Given the description of an element on the screen output the (x, y) to click on. 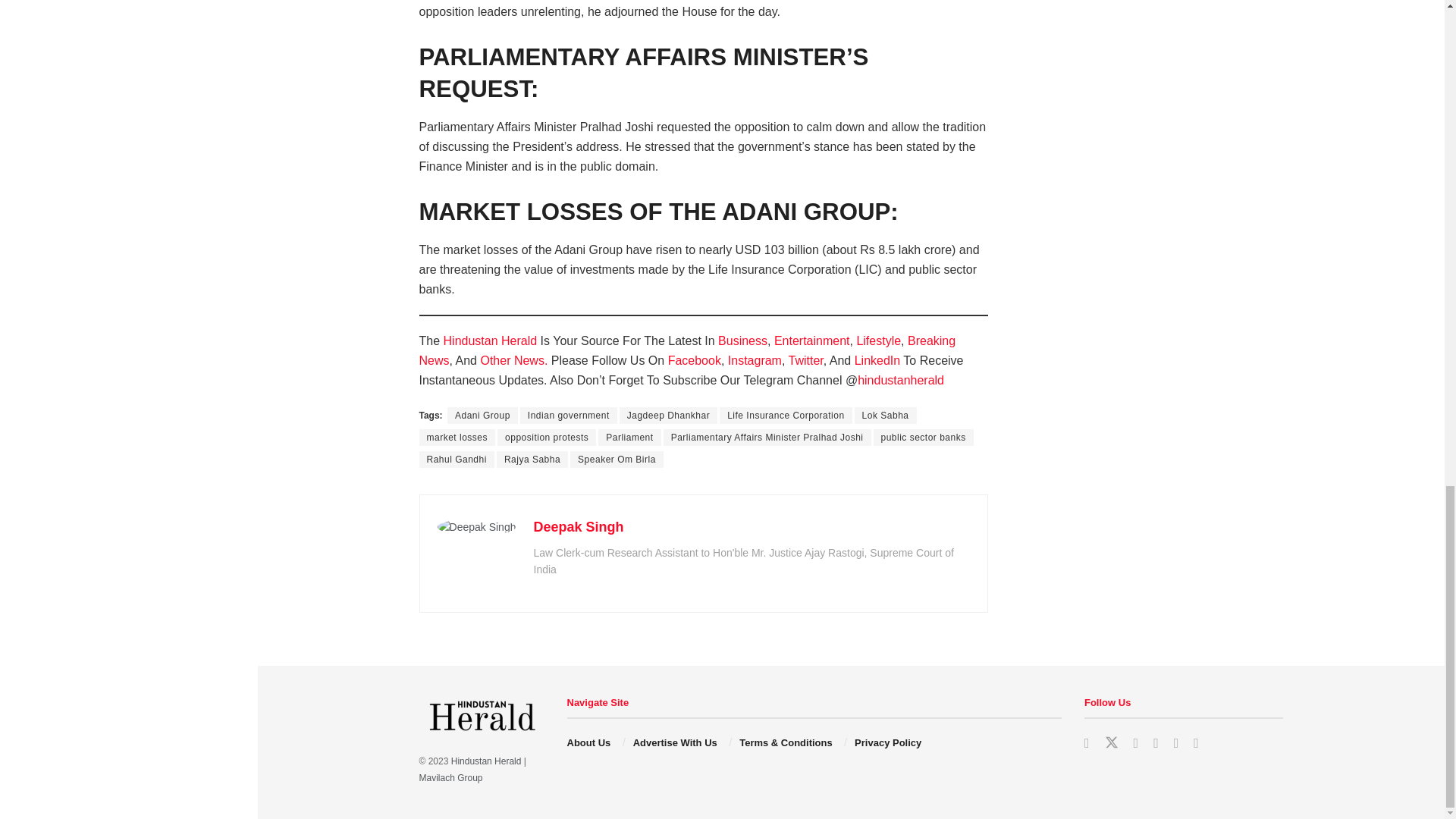
Mavilach Group (450, 777)
Hindustan Herald (486, 760)
